Given the description of an element on the screen output the (x, y) to click on. 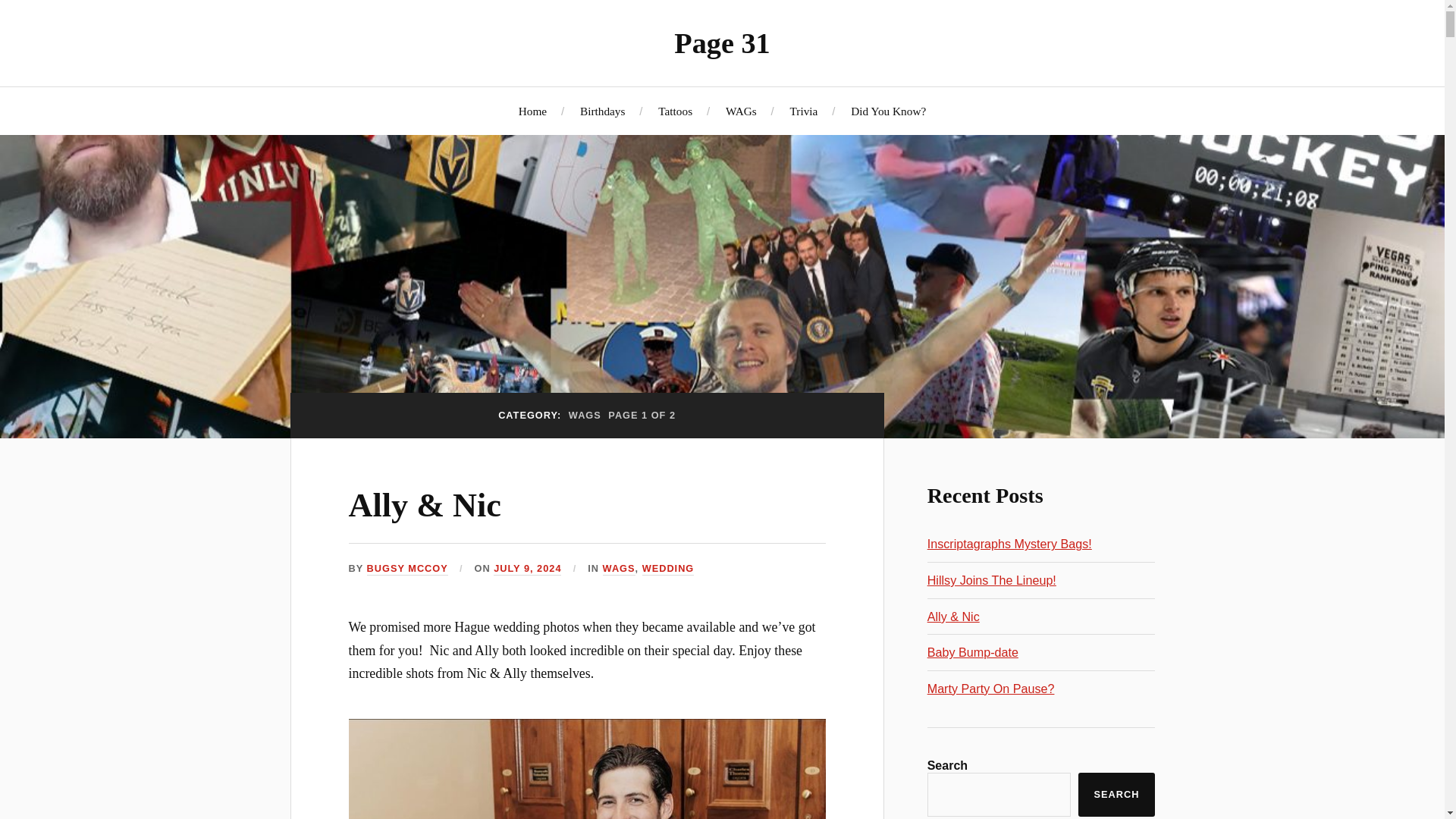
JULY 9, 2024 (526, 568)
Page 31 (722, 42)
WAGS (618, 568)
Posts by Bugsy McCoy (407, 568)
WEDDING (668, 568)
Did You Know? (888, 110)
BUGSY MCCOY (407, 568)
Birthdays (602, 110)
